Given the description of an element on the screen output the (x, y) to click on. 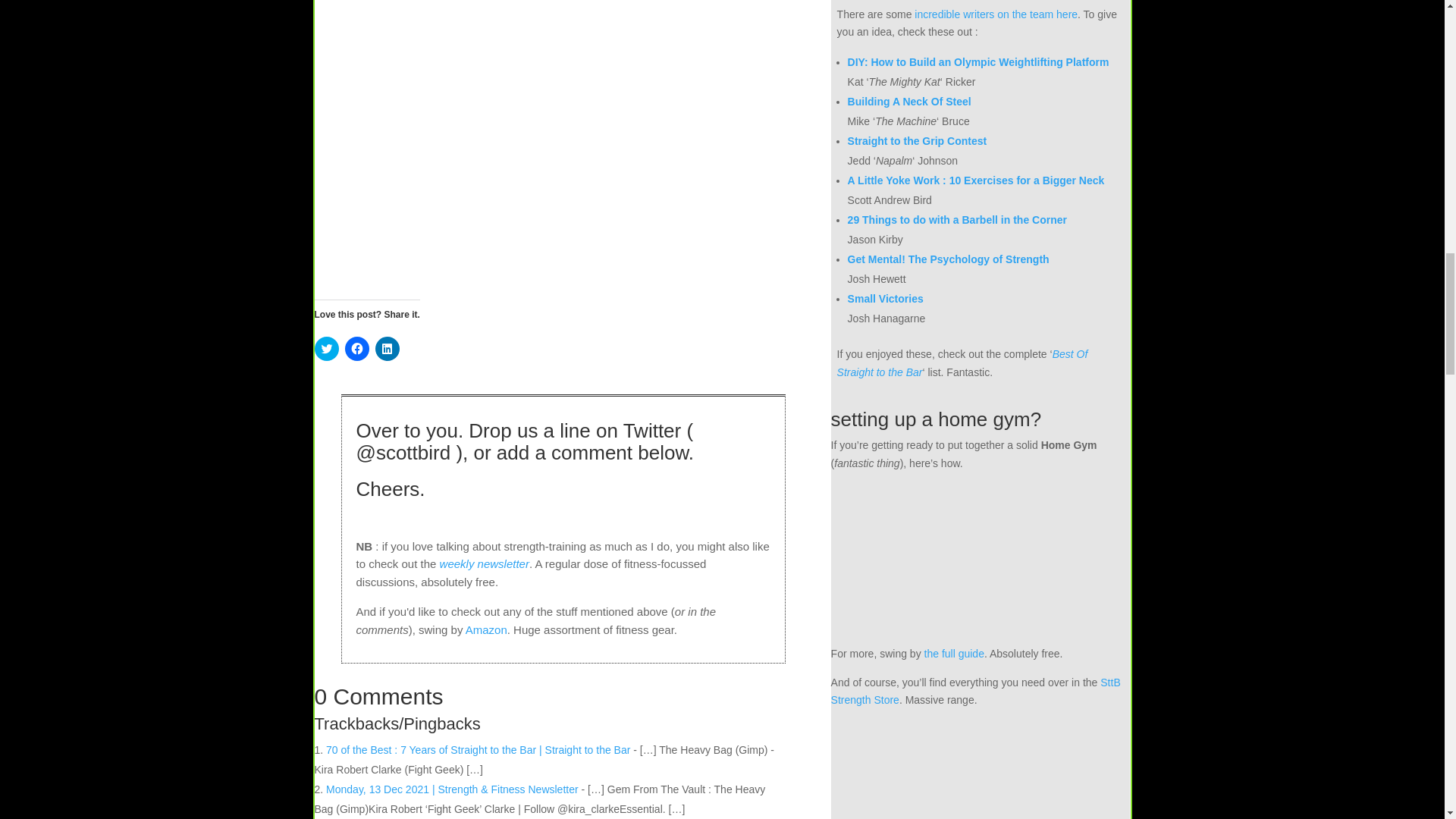
Click to share on Facebook (355, 348)
weekly newsletter (484, 563)
Click to share on Twitter (325, 348)
Amazon (485, 629)
Click to share on LinkedIn (386, 348)
